Given the description of an element on the screen output the (x, y) to click on. 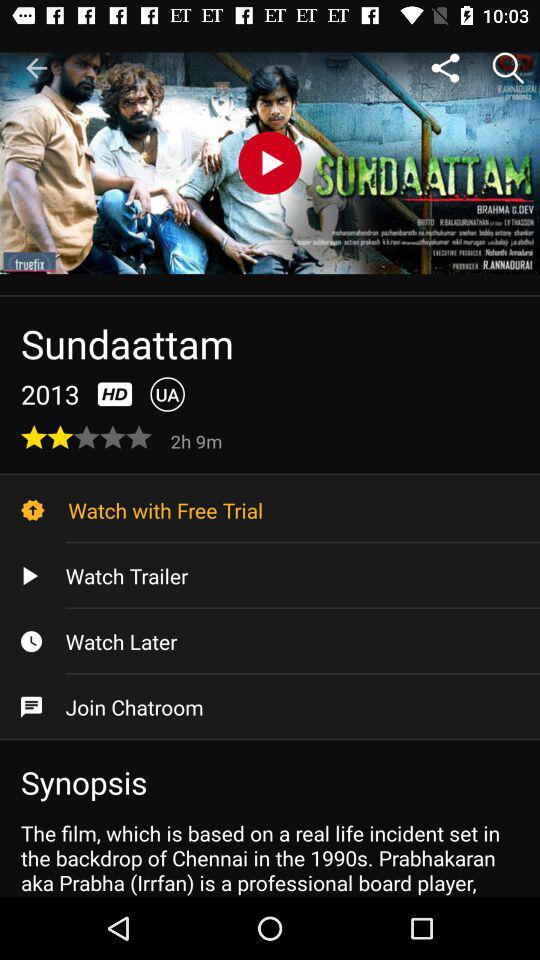
turn off the join chatroom icon (270, 707)
